Given the description of an element on the screen output the (x, y) to click on. 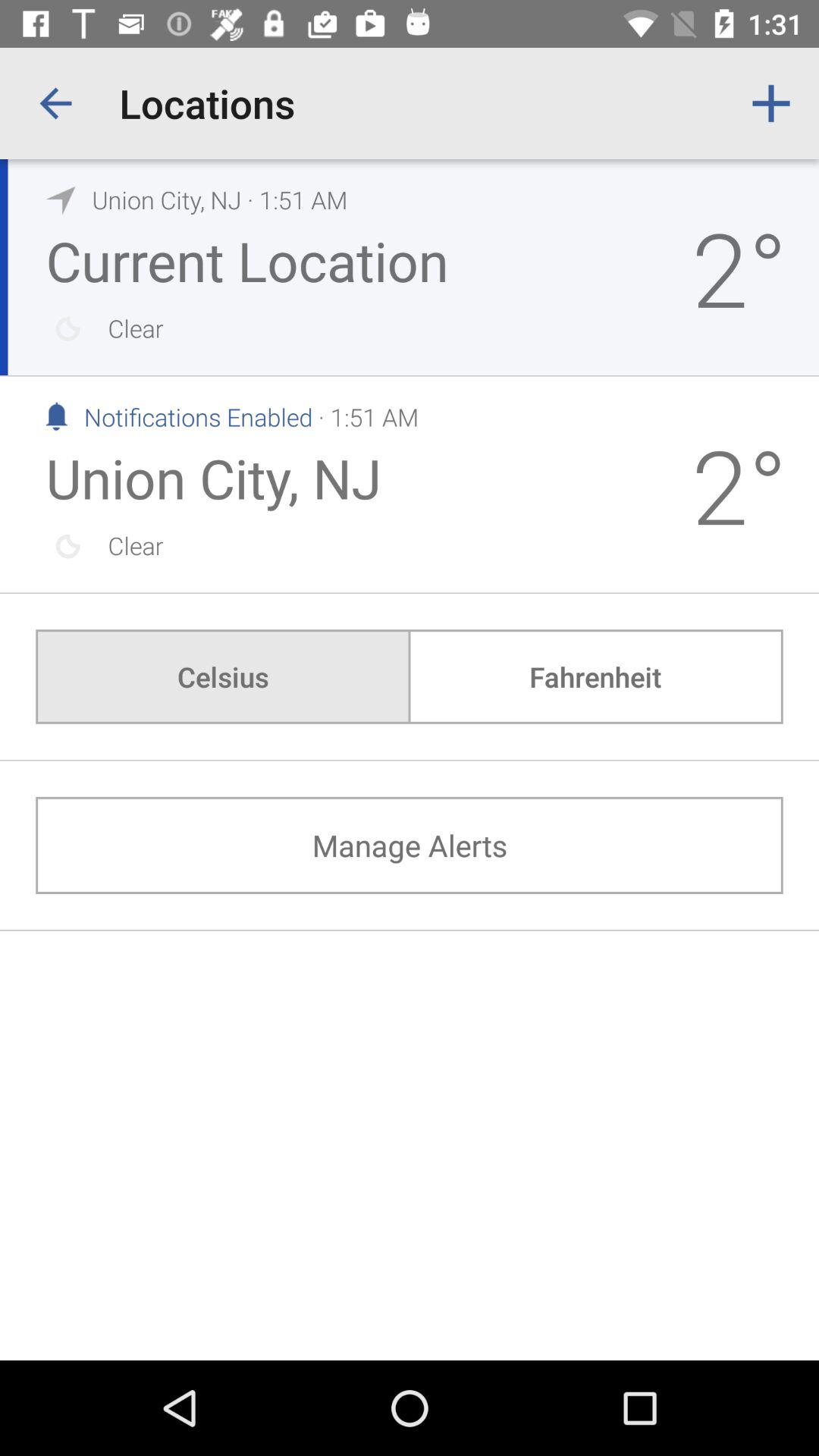
press the app next to locations item (771, 103)
